Given the description of an element on the screen output the (x, y) to click on. 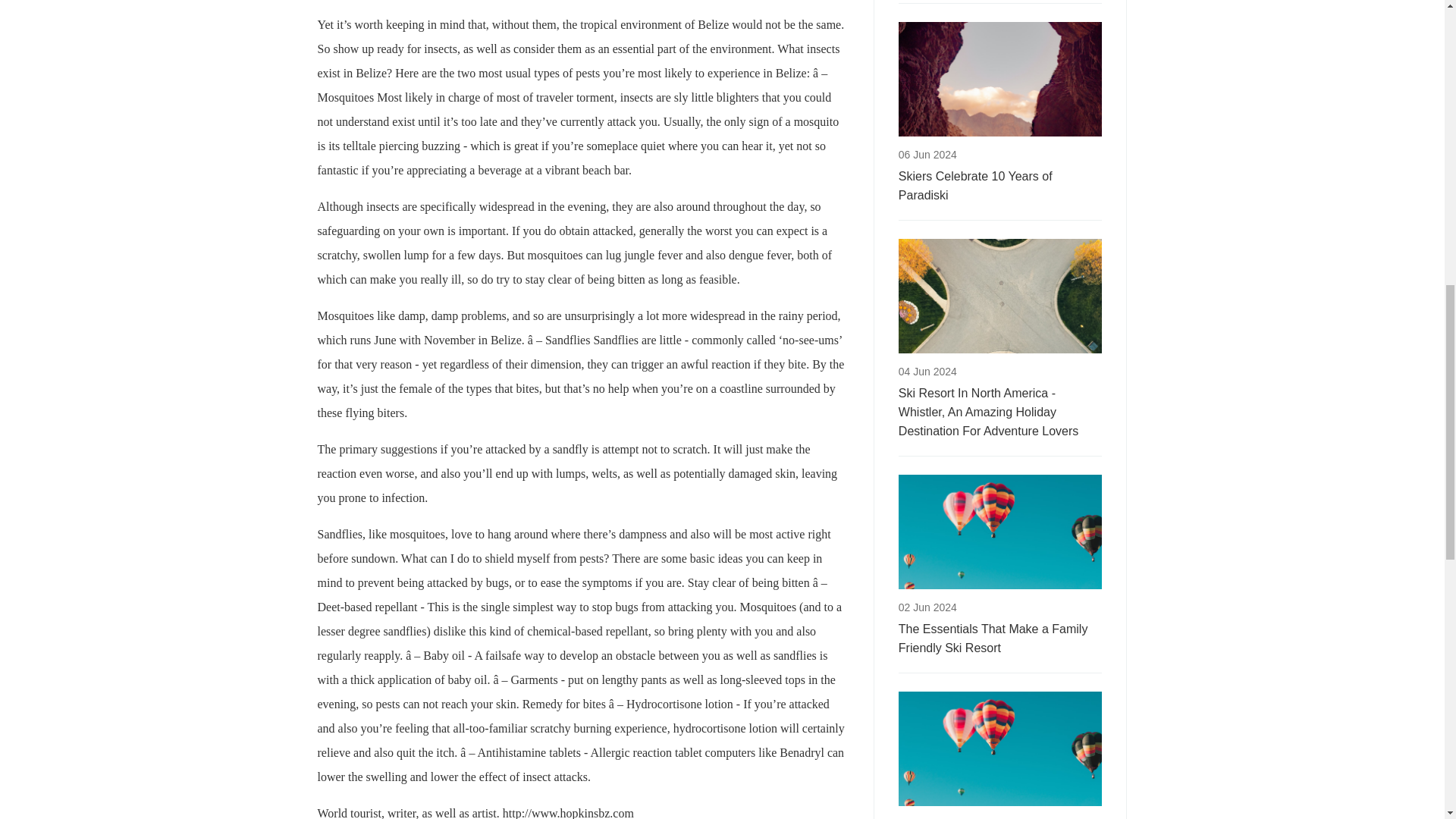
Skiers Celebrate 10 Years of Paradiski (1000, 185)
The Essentials That Make a Family Friendly Ski Resort (1000, 638)
